Given the description of an element on the screen output the (x, y) to click on. 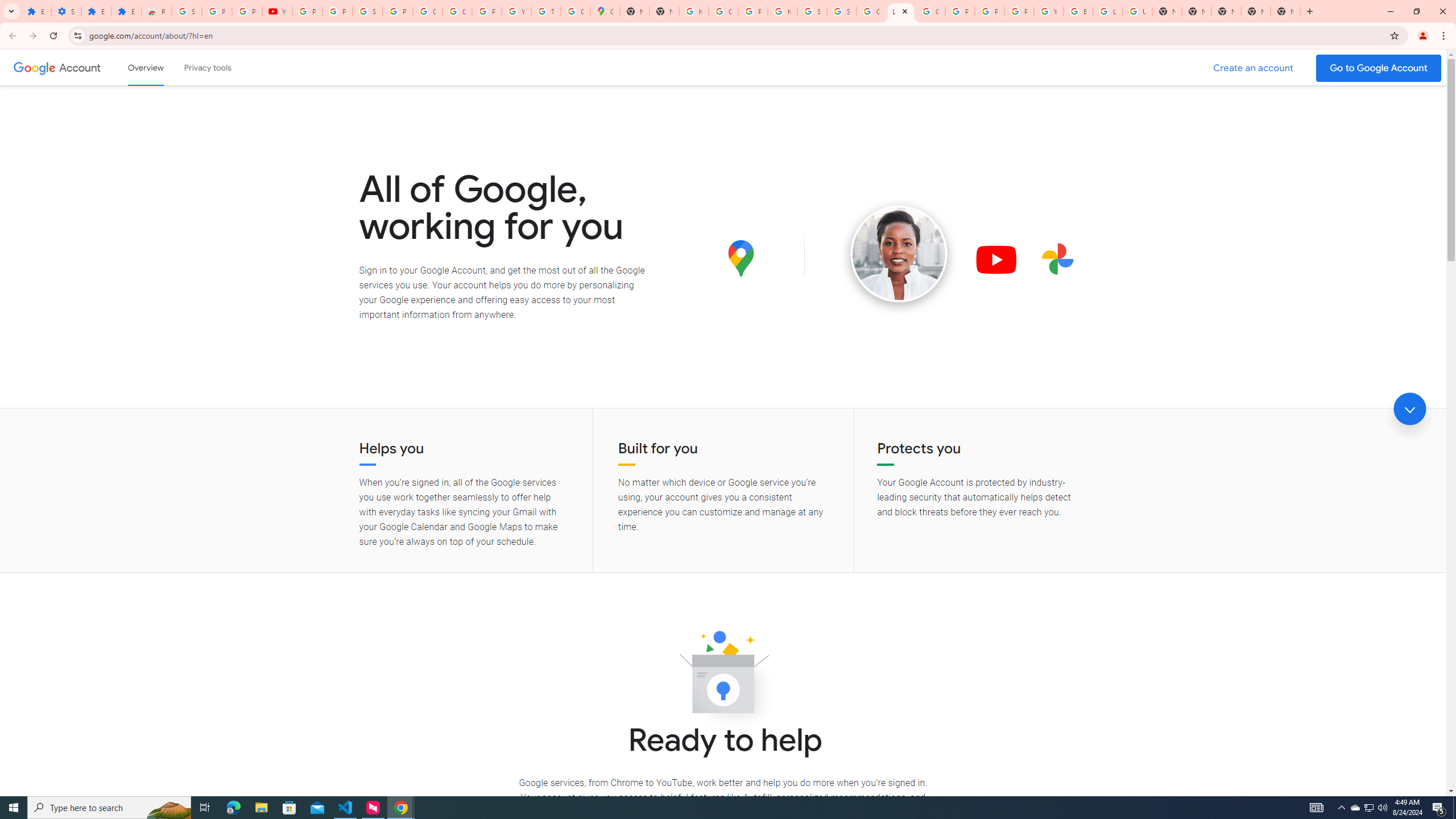
YouTube (1048, 11)
